Given the description of an element on the screen output the (x, y) to click on. 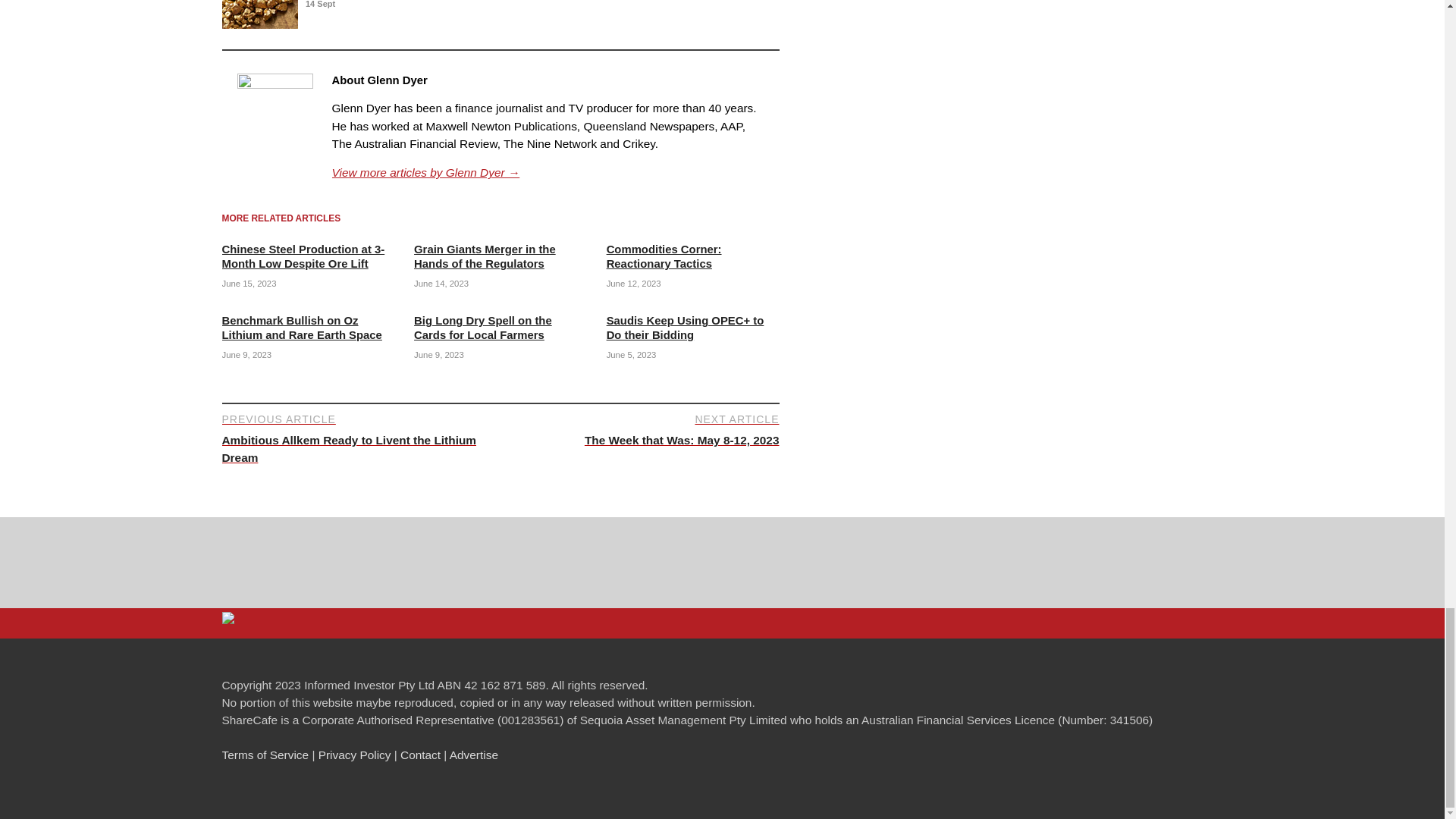
Big Long Dry Spell on the Cards for Local Farmers (482, 327)
Benchmark Bullish on Oz Lithium and Rare Earth Space (301, 327)
Grain Giants Merger in the Hands of the Regulators (640, 428)
Glenn Dyer (484, 256)
Commodities Corner: Reactionary Tactics (547, 171)
Grain Giants Merger in the Hands of the Regulators (664, 256)
Chinese Steel Production at 3-Month Low Despite Ore Lift (484, 256)
Benchmark Bullish on Oz Lithium and Rare Earth Space (302, 256)
Commodities Corner: Reactionary Tactics (301, 327)
Chinese Steel Production at 3-Month Low Despite Ore Lift (664, 256)
Big Long Dry Spell on the Cards for Local Farmers (302, 256)
